Given the description of an element on the screen output the (x, y) to click on. 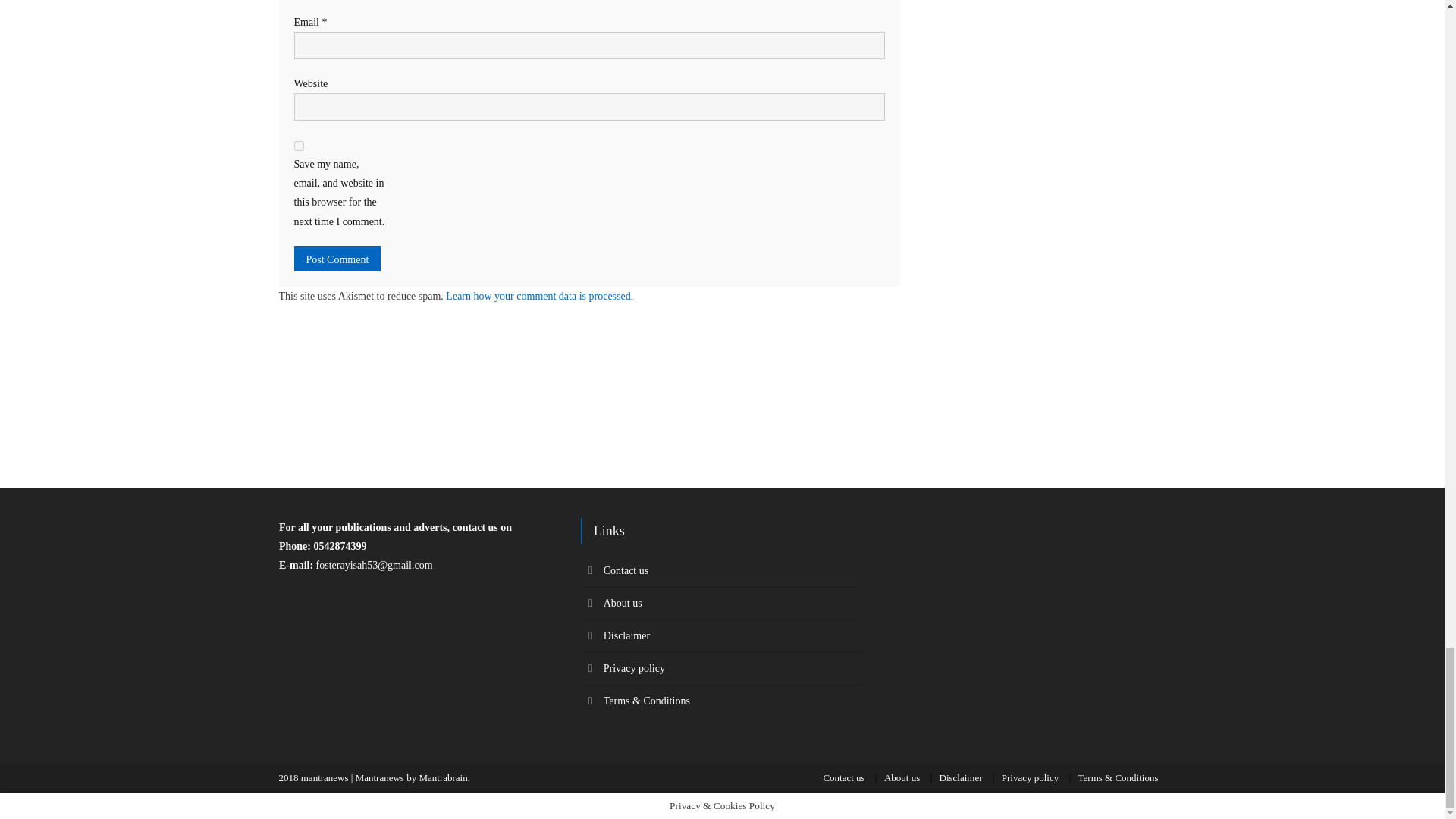
yes (299, 145)
Post Comment (337, 258)
